Given the description of an element on the screen output the (x, y) to click on. 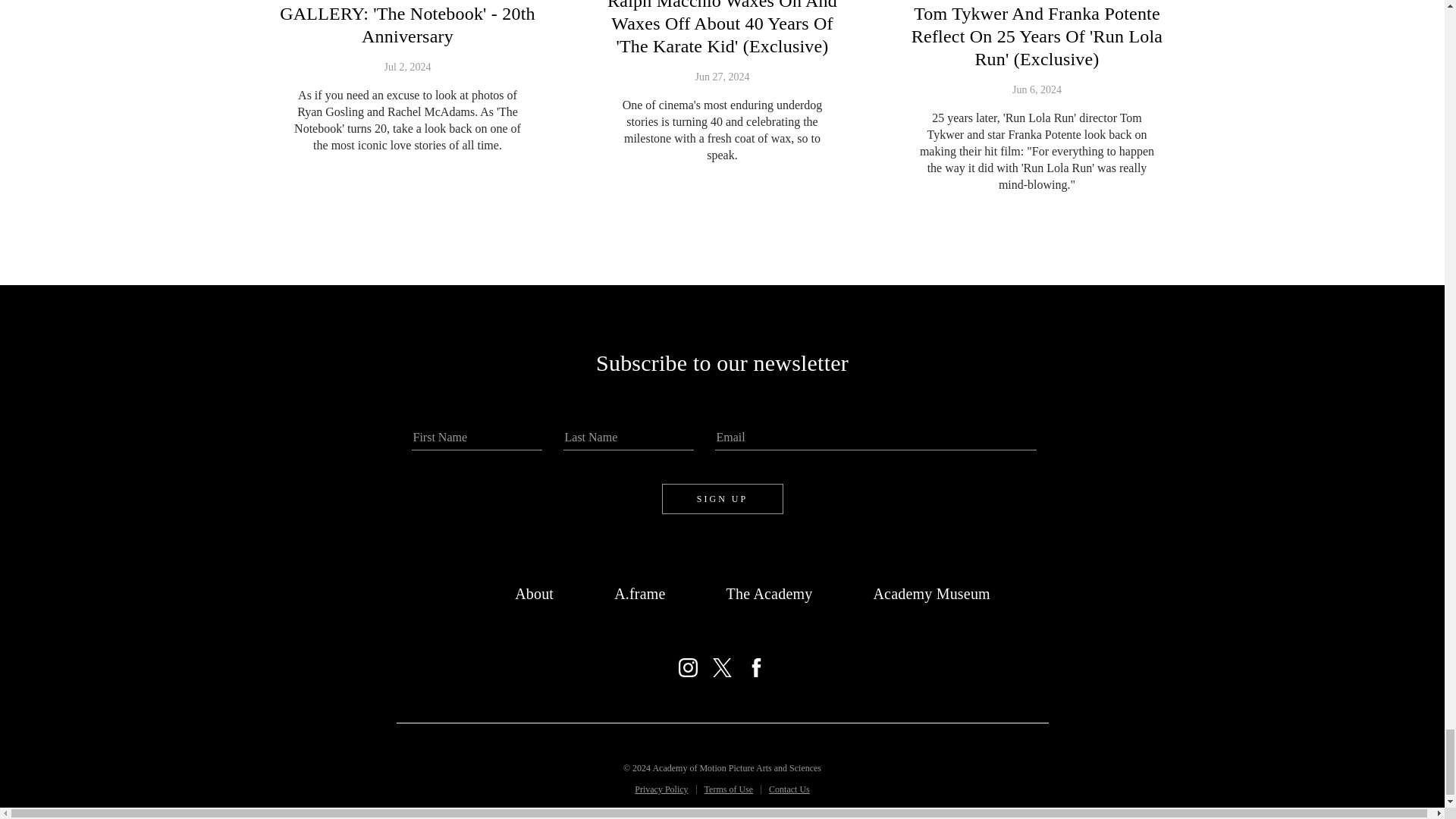
Email (874, 437)
Last Name (627, 437)
First Name (475, 437)
